Given the description of an element on the screen output the (x, y) to click on. 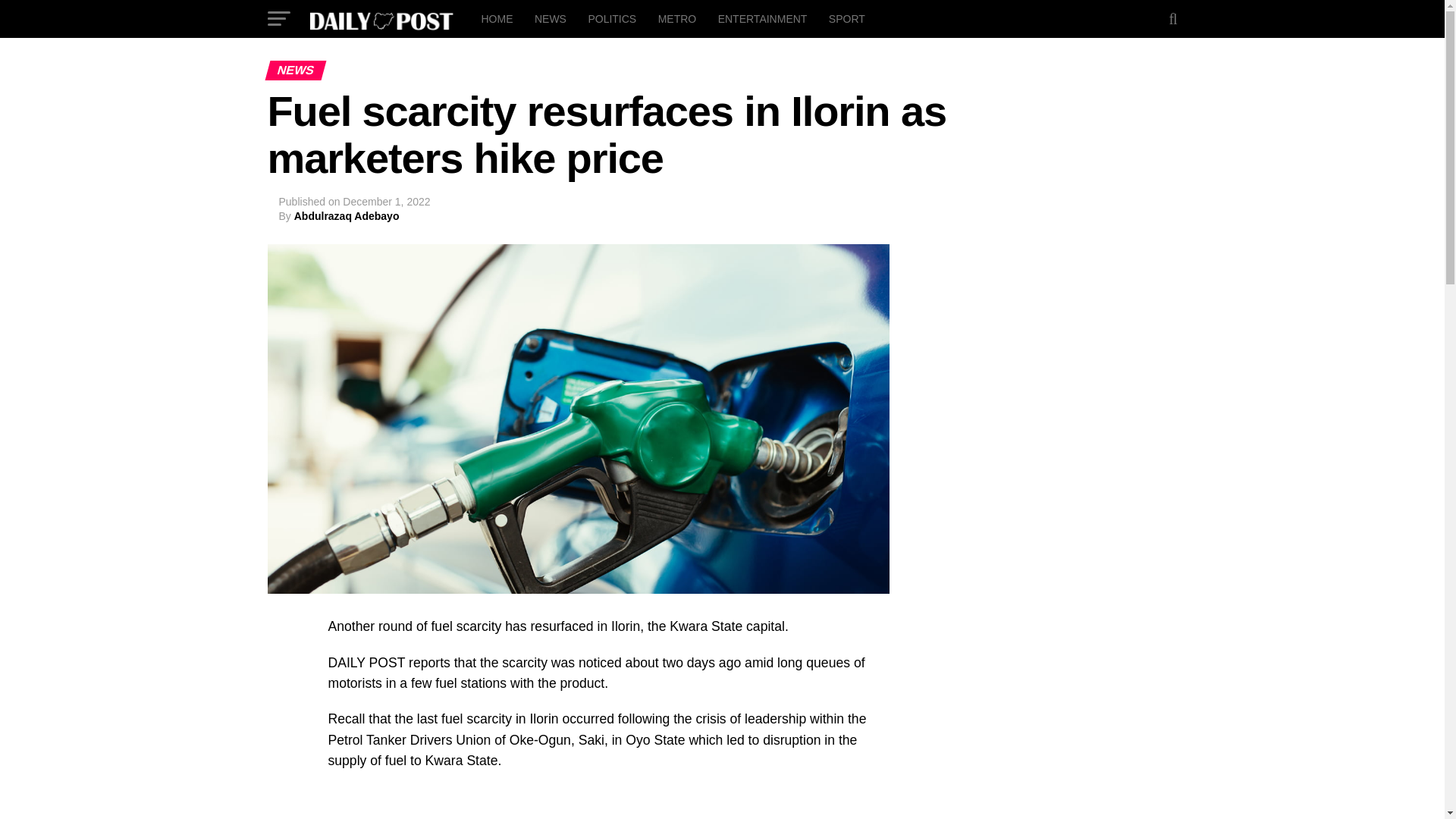
HOME (496, 18)
Posts by Abdulrazaq Adebayo (346, 215)
METRO (677, 18)
Abdulrazaq Adebayo (346, 215)
SPORT (847, 18)
NEWS (550, 18)
POLITICS (611, 18)
ENTERTAINMENT (762, 18)
